Given the description of an element on the screen output the (x, y) to click on. 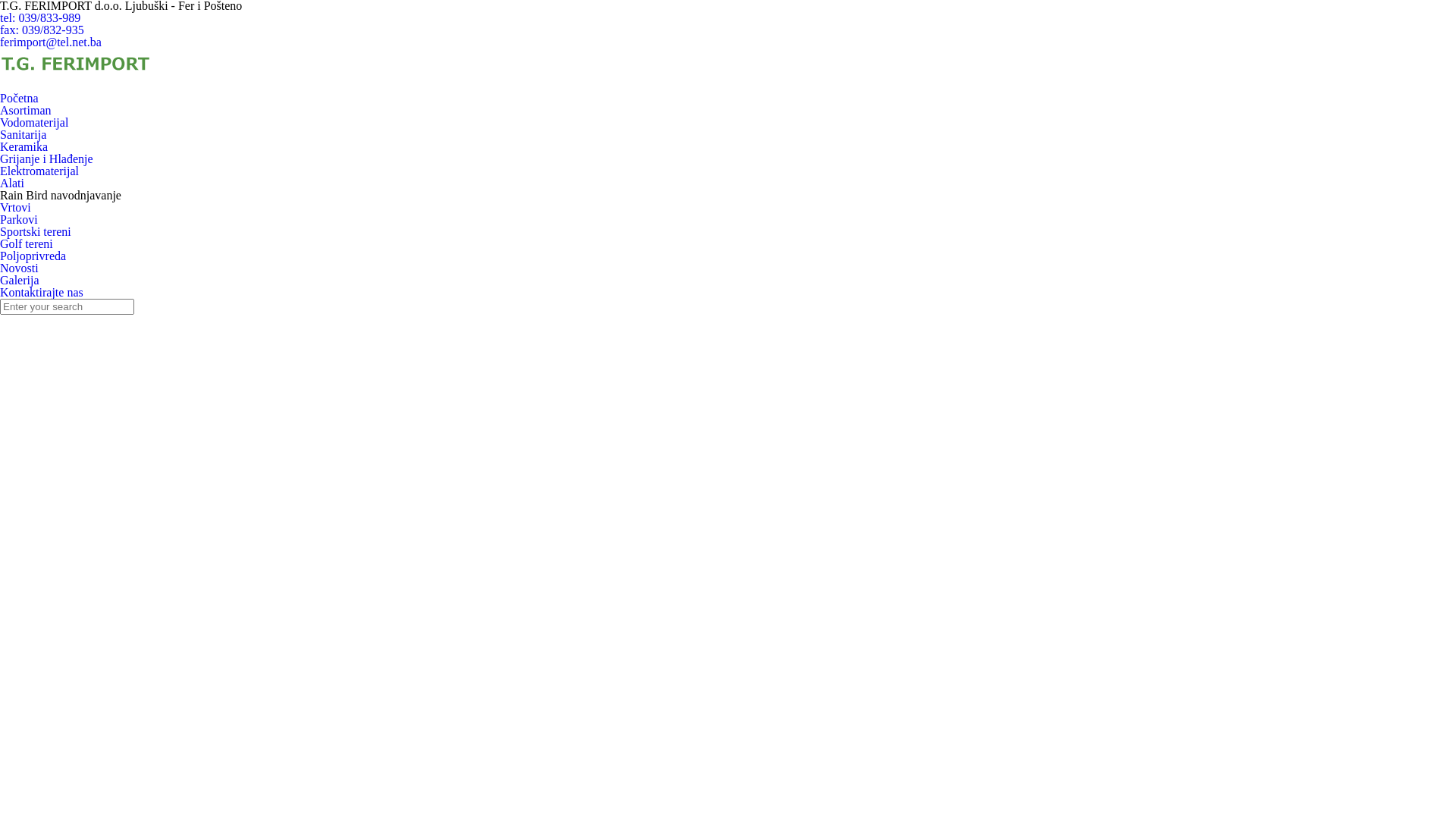
Galerija Element type: text (19, 279)
Rain Bird navodnjavanje Element type: text (60, 194)
tel: 039/833-989 Element type: text (40, 17)
Novosti Element type: text (19, 267)
fax: 039/832-935 Element type: text (42, 29)
Elektromaterijal Element type: text (39, 170)
Keramika Element type: text (23, 146)
Poljoprivreda Element type: text (32, 255)
Kontaktirajte nas Element type: text (41, 291)
ferimport@tel.net.ba Element type: text (50, 41)
Alati Element type: text (12, 182)
Sanitarija Element type: text (23, 134)
Parkovi Element type: text (18, 219)
Vodomaterijal Element type: text (34, 122)
Sportski tereni Element type: text (35, 231)
Asortiman Element type: text (25, 109)
Golf tereni Element type: text (26, 243)
Vrtovi Element type: text (15, 206)
